Given the description of an element on the screen output the (x, y) to click on. 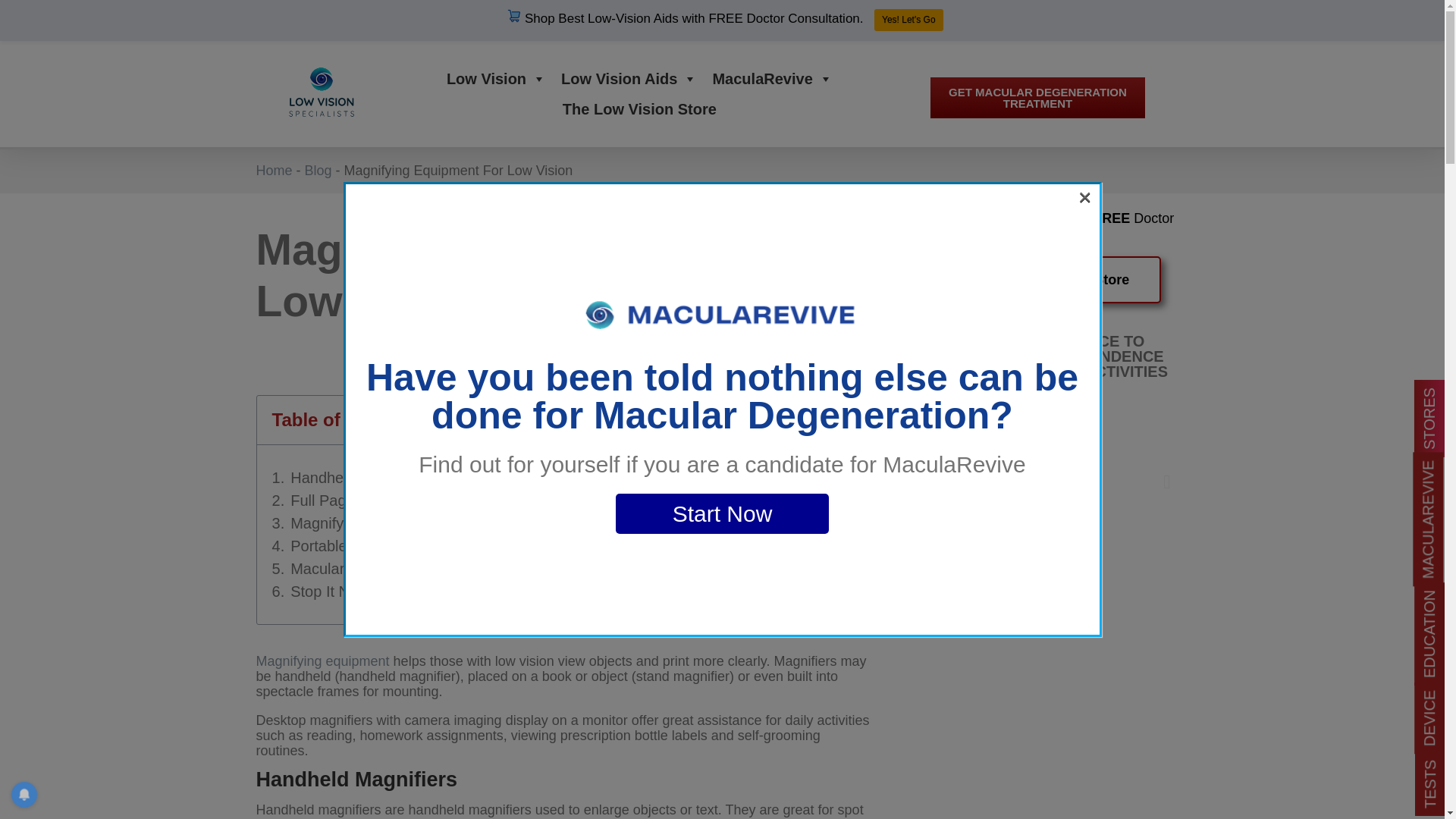
MaculaRevive (772, 78)
Low Vision Aids (628, 78)
Low Vision (496, 78)
GET MACULAR DEGENERATION TREATMENT (1037, 96)
The Low Vision Store (638, 109)
